Given the description of an element on the screen output the (x, y) to click on. 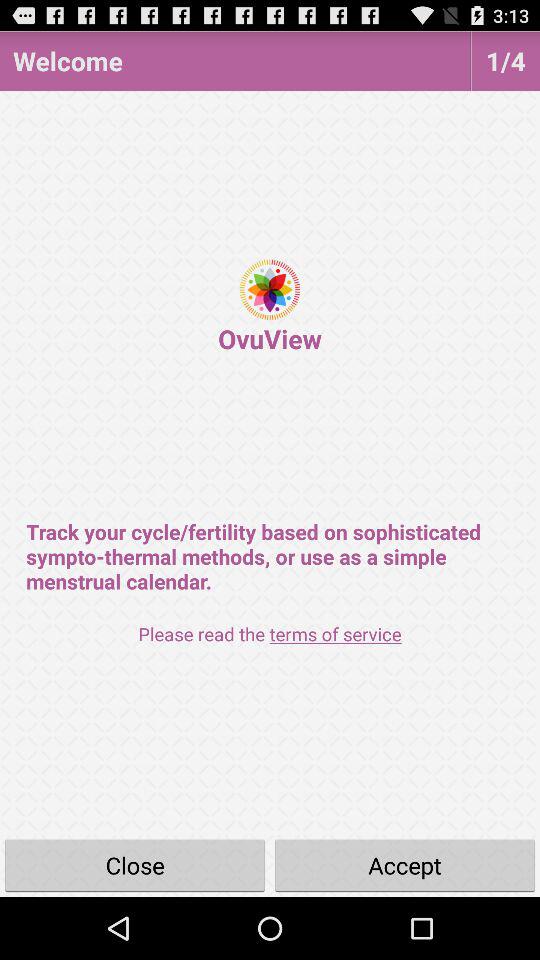
open the app below the track your cycle (269, 633)
